Given the description of an element on the screen output the (x, y) to click on. 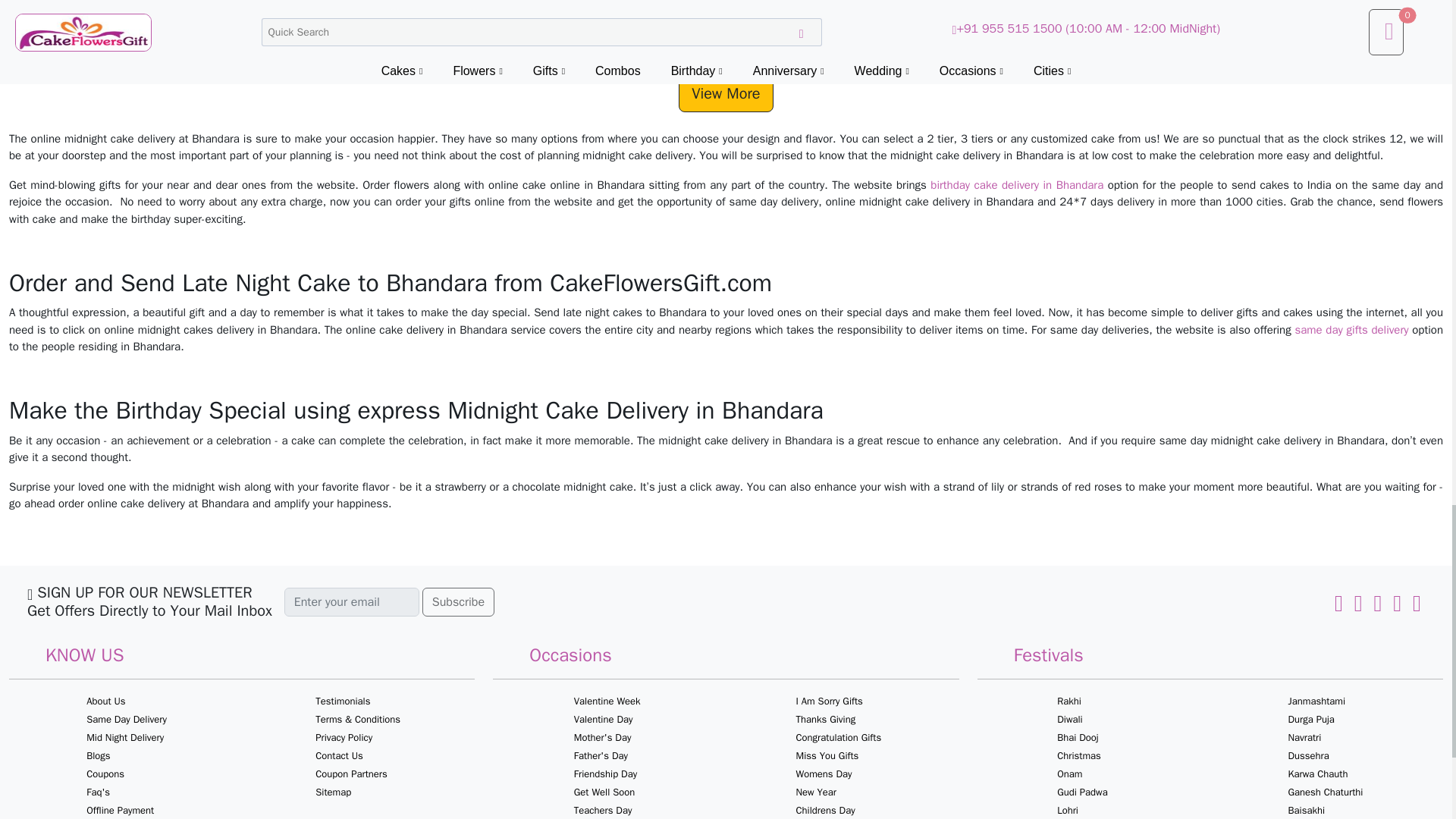
Subscribe (458, 602)
